Given the description of an element on the screen output the (x, y) to click on. 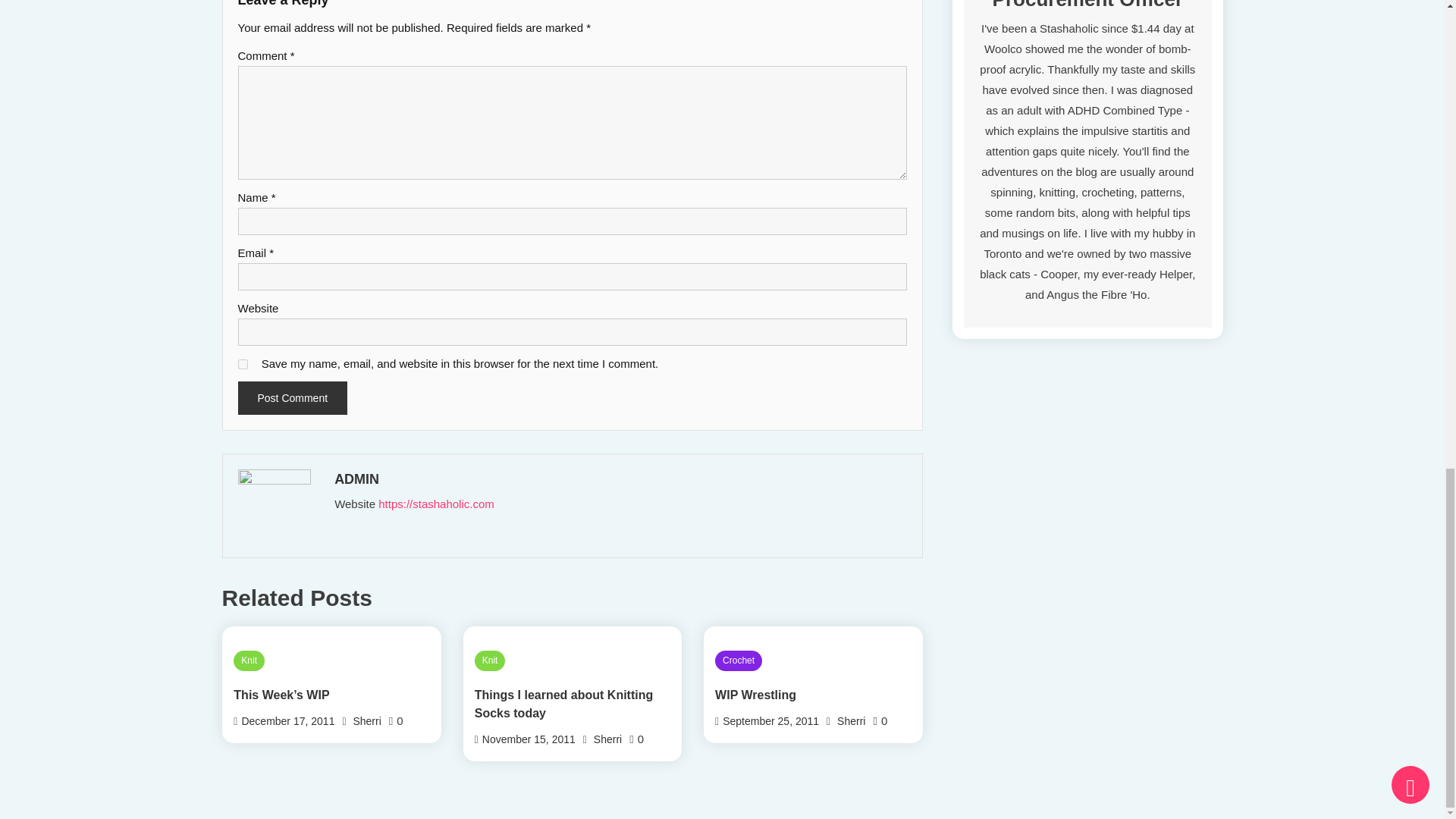
ADMIN (618, 479)
Knit (248, 660)
Posts by admin (618, 479)
Post Comment (292, 397)
yes (242, 364)
Post Comment (292, 397)
